Given the description of an element on the screen output the (x, y) to click on. 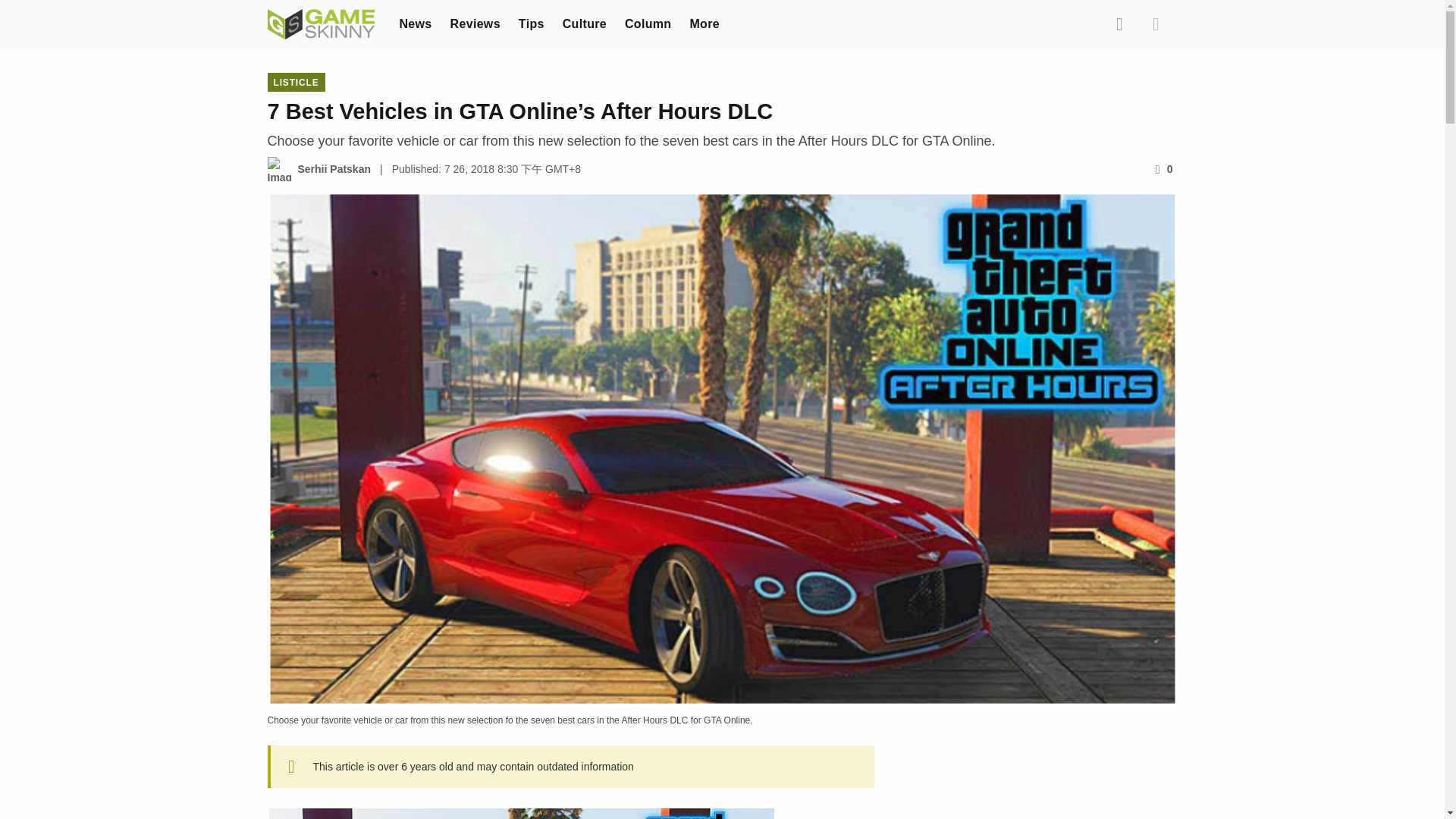
Culture (584, 23)
Tips (531, 23)
Dark Mode (1155, 24)
Column (647, 23)
Reviews (474, 23)
Search (1118, 24)
News (414, 23)
